Given the description of an element on the screen output the (x, y) to click on. 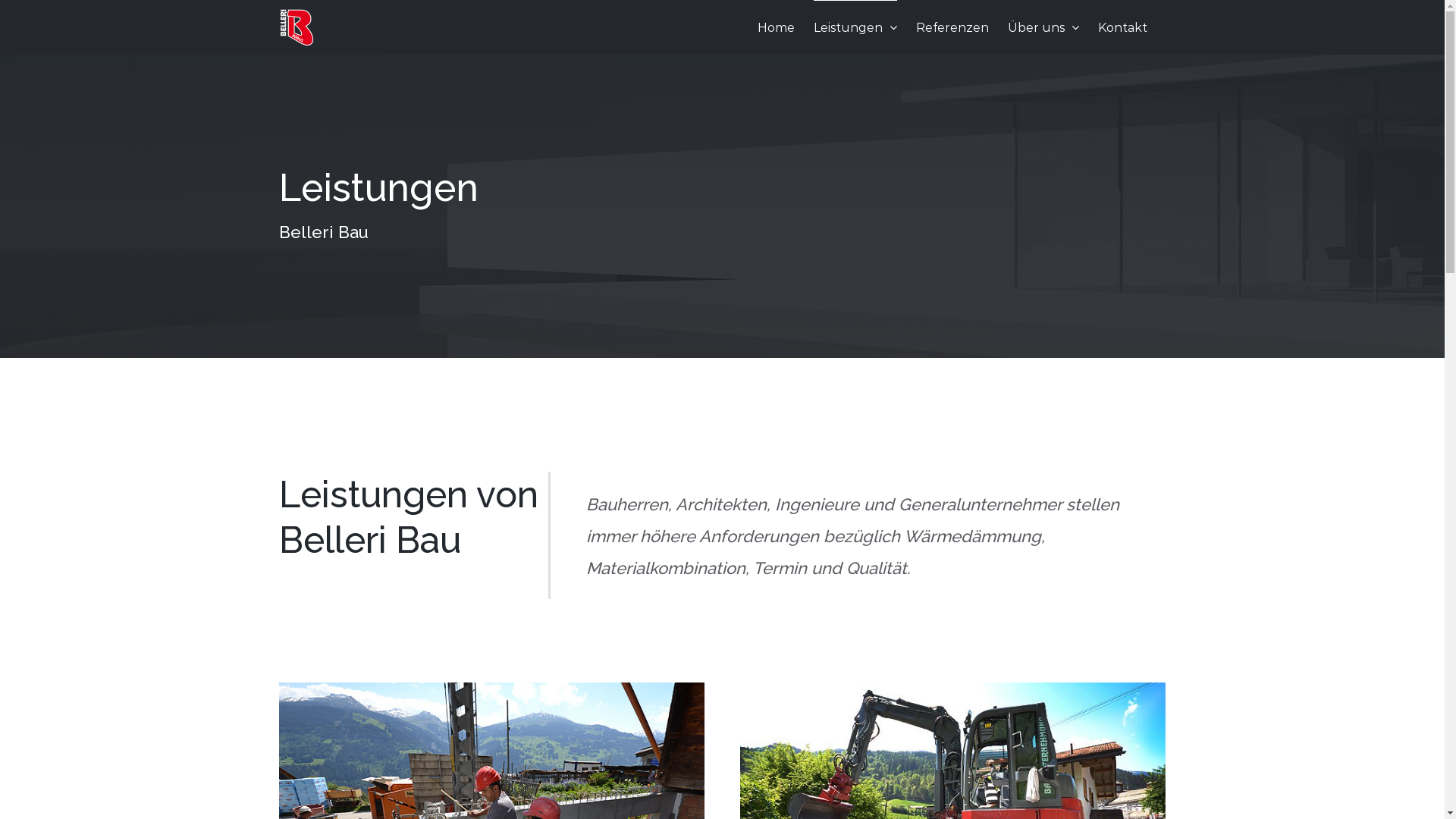
Referenzen Element type: text (952, 27)
Home Element type: text (774, 27)
Leistungen Element type: text (854, 27)
Kontakt Element type: text (1122, 27)
